Given the description of an element on the screen output the (x, y) to click on. 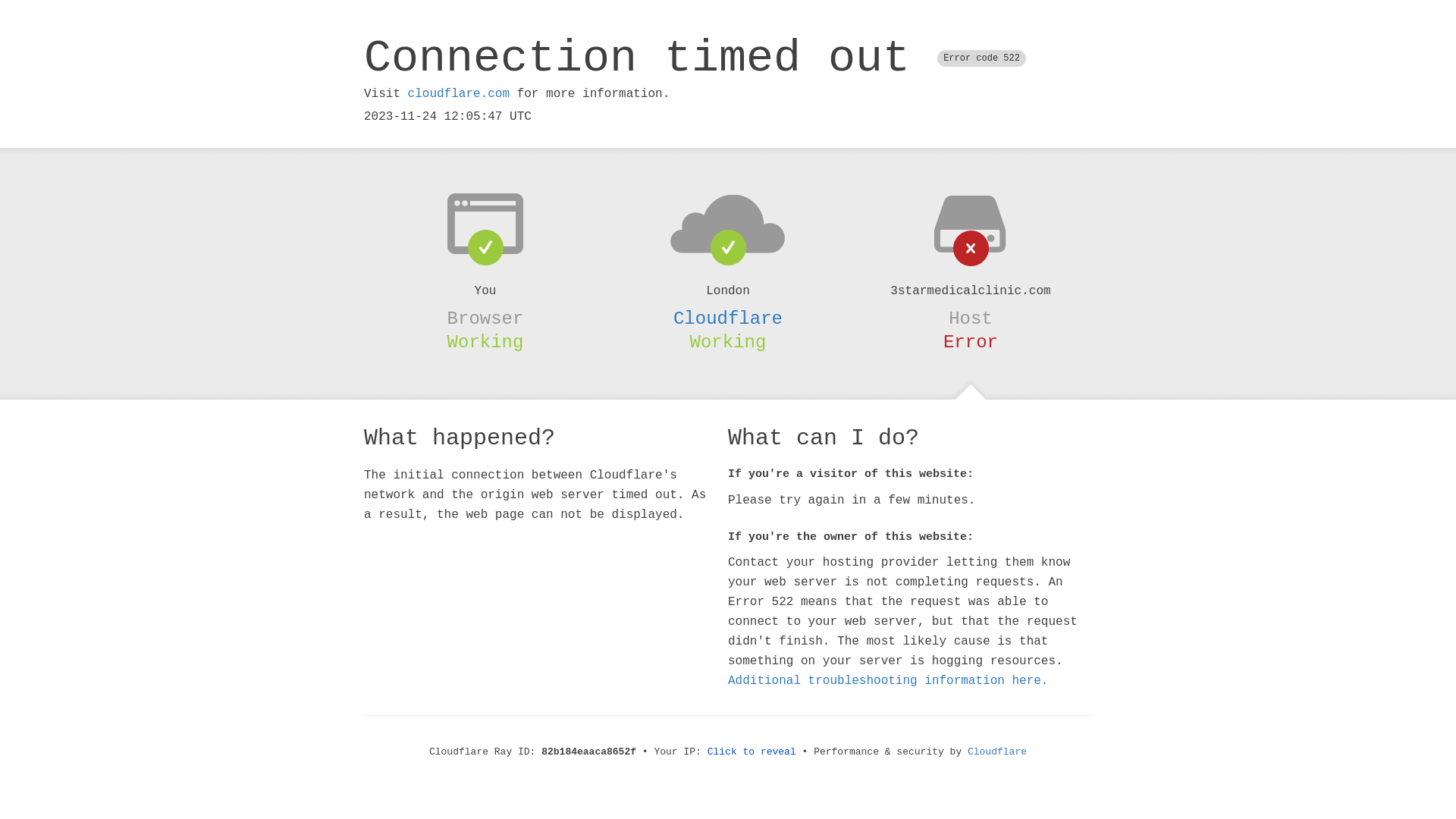
Click to reveal Element type: text (751, 751)
Additional troubleshooting information here. Element type: text (888, 680)
Cloudflare Element type: text (996, 751)
Cloudflare Element type: text (727, 318)
cloudflare.com Element type: text (458, 93)
